Given the description of an element on the screen output the (x, y) to click on. 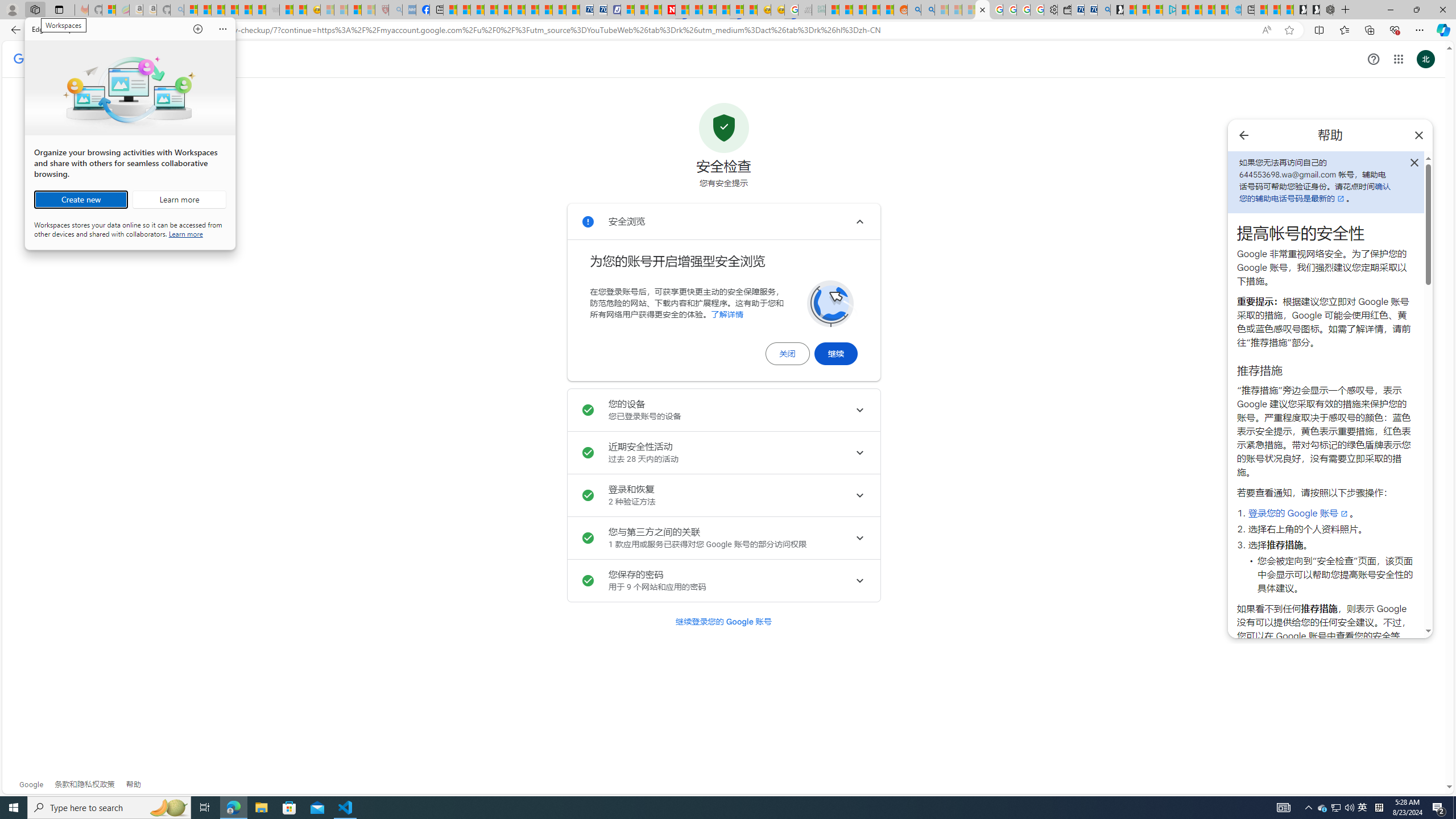
Learn more about Workspaces privacy (185, 233)
Robert H. Shmerling, MD - Harvard Health - Sleeping (381, 9)
Trusted Community Engagement and Contributions | Guidelines (682, 9)
DITOGAMES AG Imprint - Sleeping (817, 9)
